Given the description of an element on the screen output the (x, y) to click on. 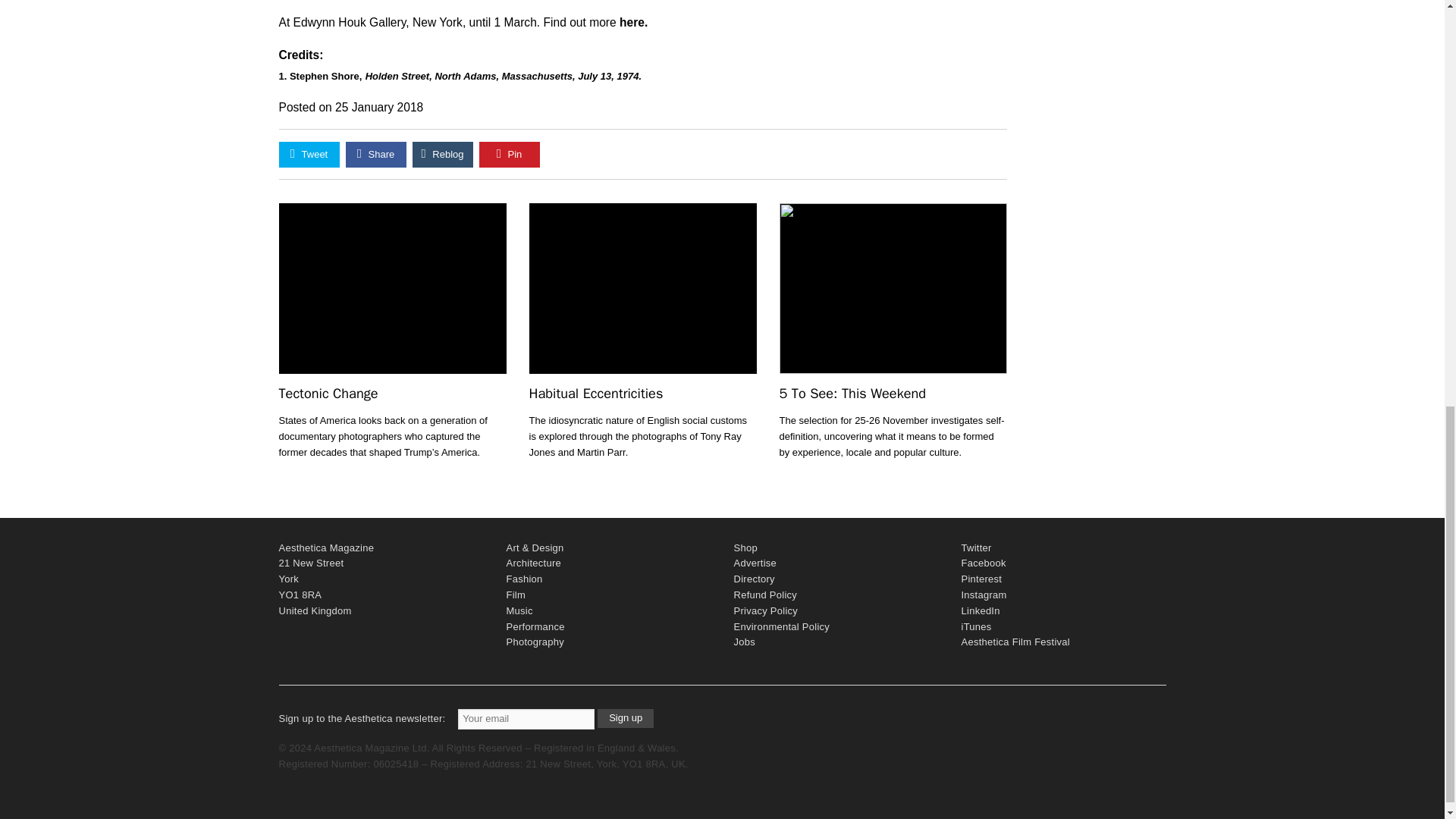
here. (633, 21)
Tweet (309, 154)
Reblog (442, 154)
Share (376, 154)
Pin (509, 154)
